Given the description of an element on the screen output the (x, y) to click on. 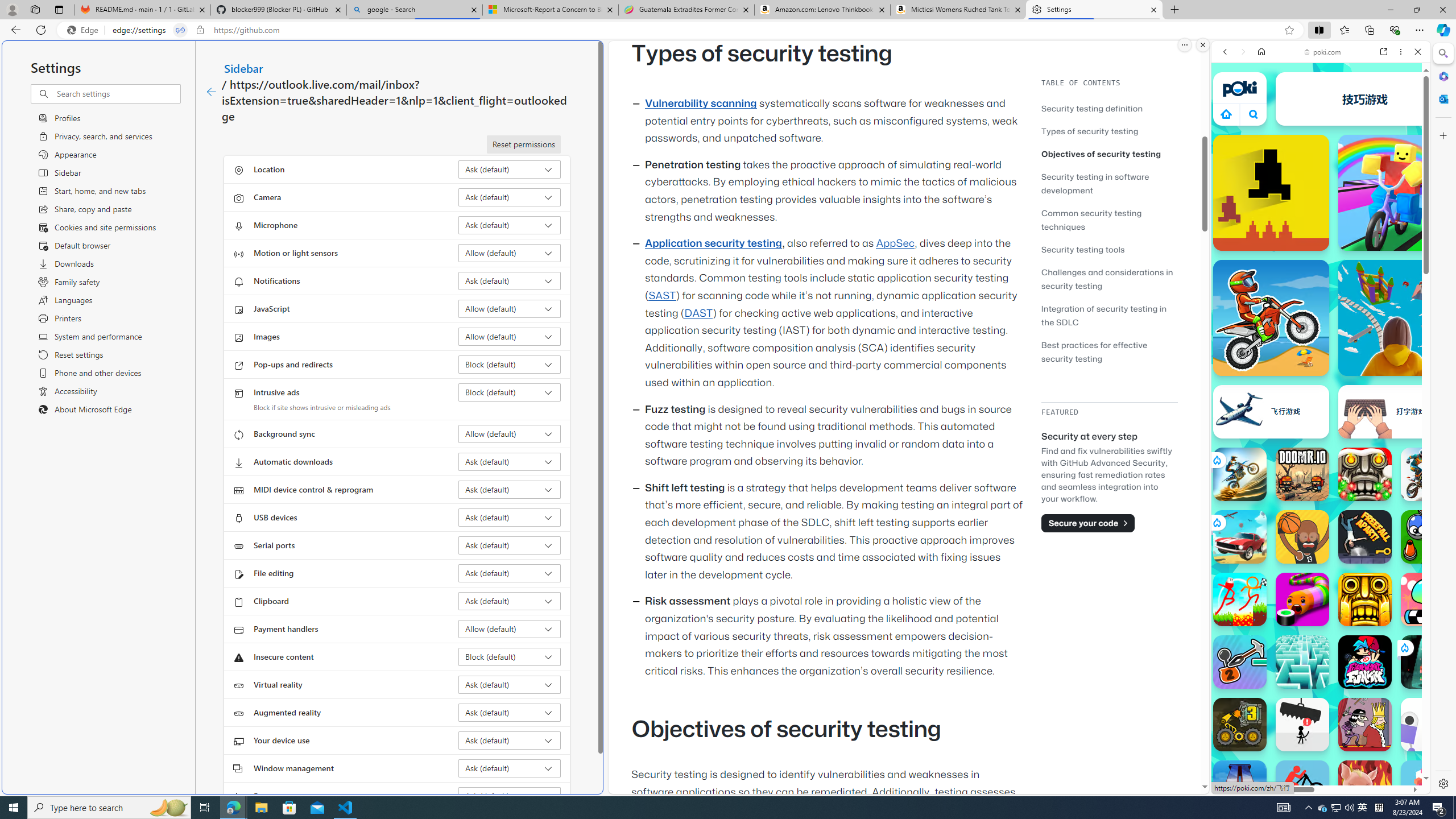
Temple Run 2 Temple Run 2 (1364, 599)
BoxRob 3 (1239, 724)
Stickman Climb 2 (1239, 661)
Pop-ups and redirects Block (default) (509, 364)
Trial Mania Trial Mania (1427, 474)
Objectives of security testing (1101, 153)
Clipboard Ask (default) (509, 601)
SAST (661, 295)
SimplyUp.io SimplyUp.io (1396, 317)
Search settings (117, 93)
Show More Car Games (1390, 268)
